Given the description of an element on the screen output the (x, y) to click on. 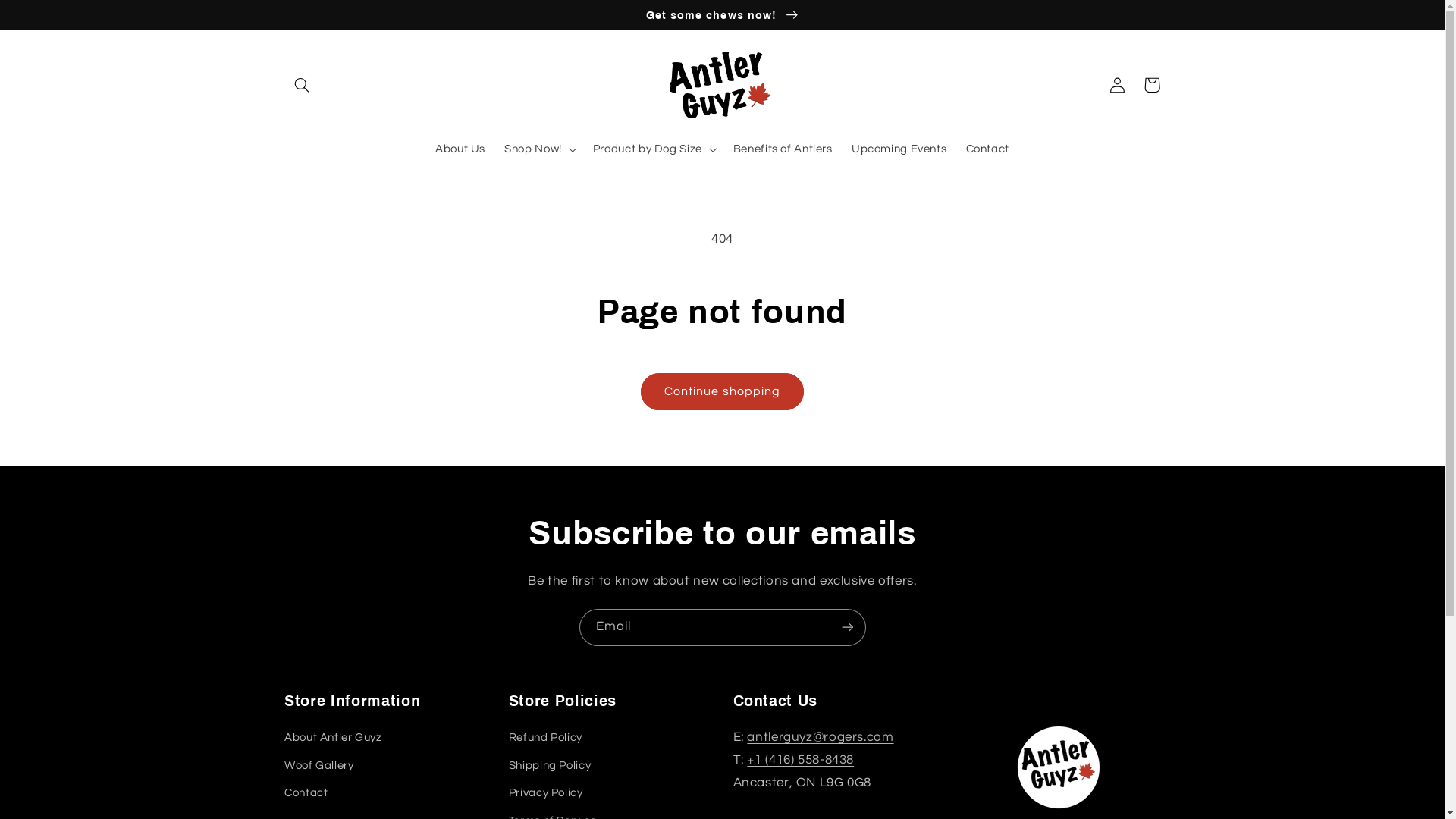
Cart Element type: text (1151, 84)
About Antler Guyz Element type: text (333, 739)
antlerguyz@rogers.com Element type: text (819, 736)
Benefits of Antlers Element type: text (782, 149)
Woof Gallery Element type: text (319, 765)
Shipping Policy Element type: text (549, 765)
Refund Policy Element type: text (545, 739)
Log in Element type: text (1116, 84)
Privacy Policy Element type: text (545, 792)
Upcoming Events Element type: text (898, 149)
+1 (416) 558-8438 Element type: text (799, 759)
Contact Element type: text (305, 792)
Get some chews now! Element type: text (722, 14)
About Us Element type: text (459, 149)
Contact Element type: text (987, 149)
Continue shopping Element type: text (722, 391)
